Given the description of an element on the screen output the (x, y) to click on. 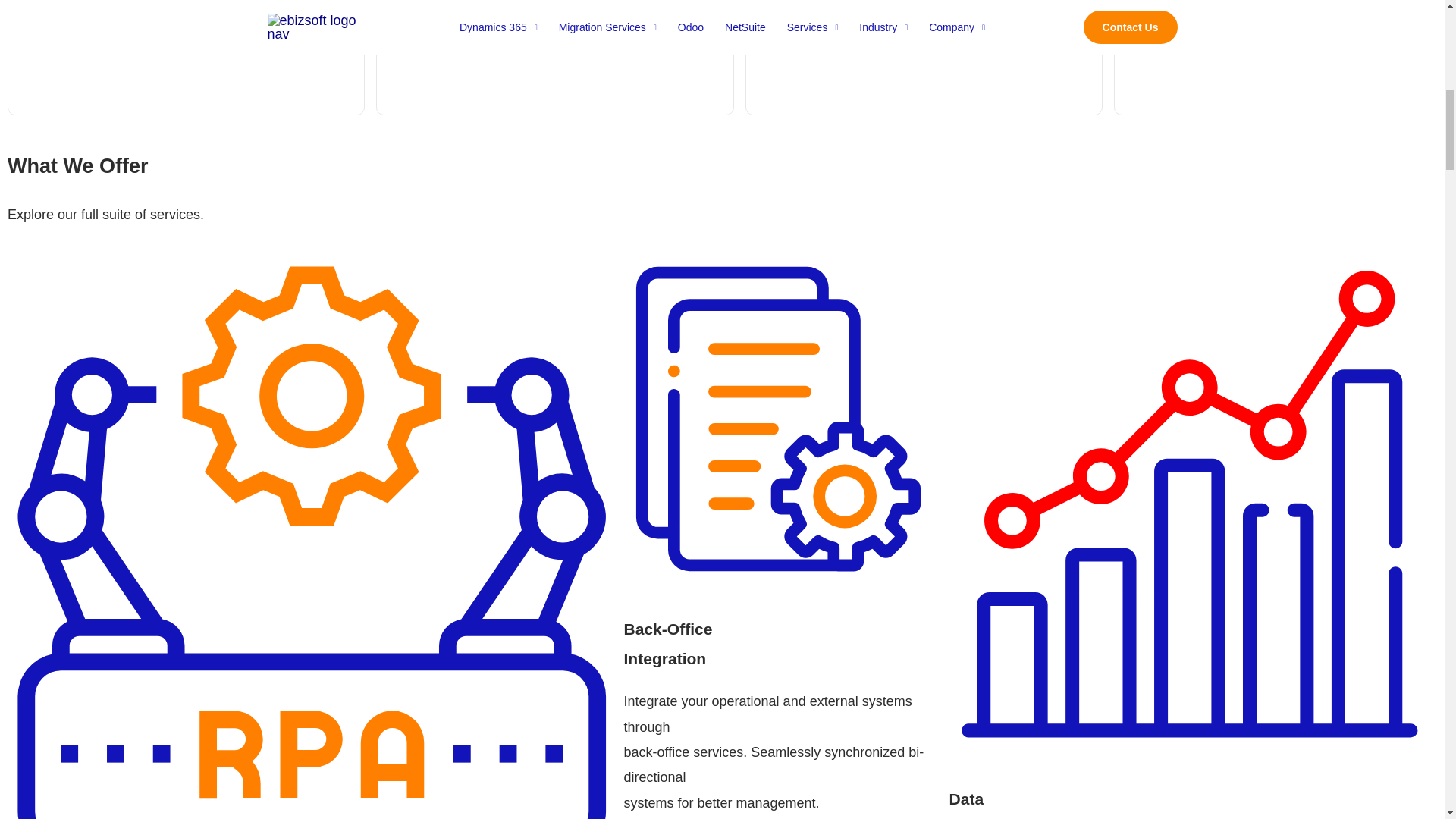
Aruba (554, 57)
hp (923, 57)
Intuit Quickbooks (186, 57)
